Given the description of an element on the screen output the (x, y) to click on. 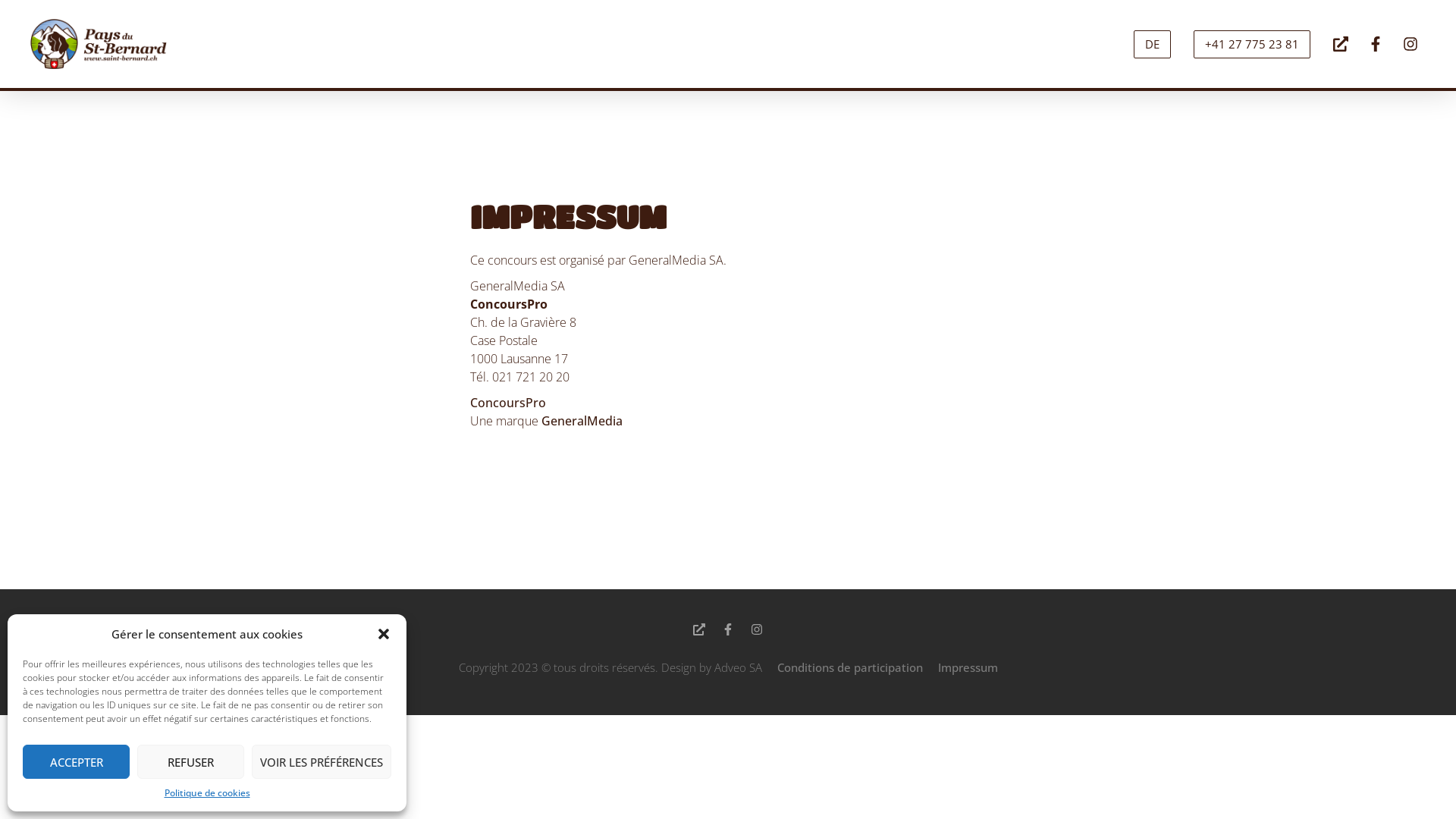
DE Element type: text (1151, 44)
Impressum Element type: text (967, 666)
REFUSER Element type: text (190, 761)
Conditions de participation Element type: text (849, 666)
GeneralMedia Element type: text (581, 420)
ConcoursPro Element type: text (508, 402)
ACCEPTER Element type: text (75, 761)
Politique de cookies Element type: text (206, 793)
+41 27 775 23 81 Element type: text (1251, 44)
